Given the description of an element on the screen output the (x, y) to click on. 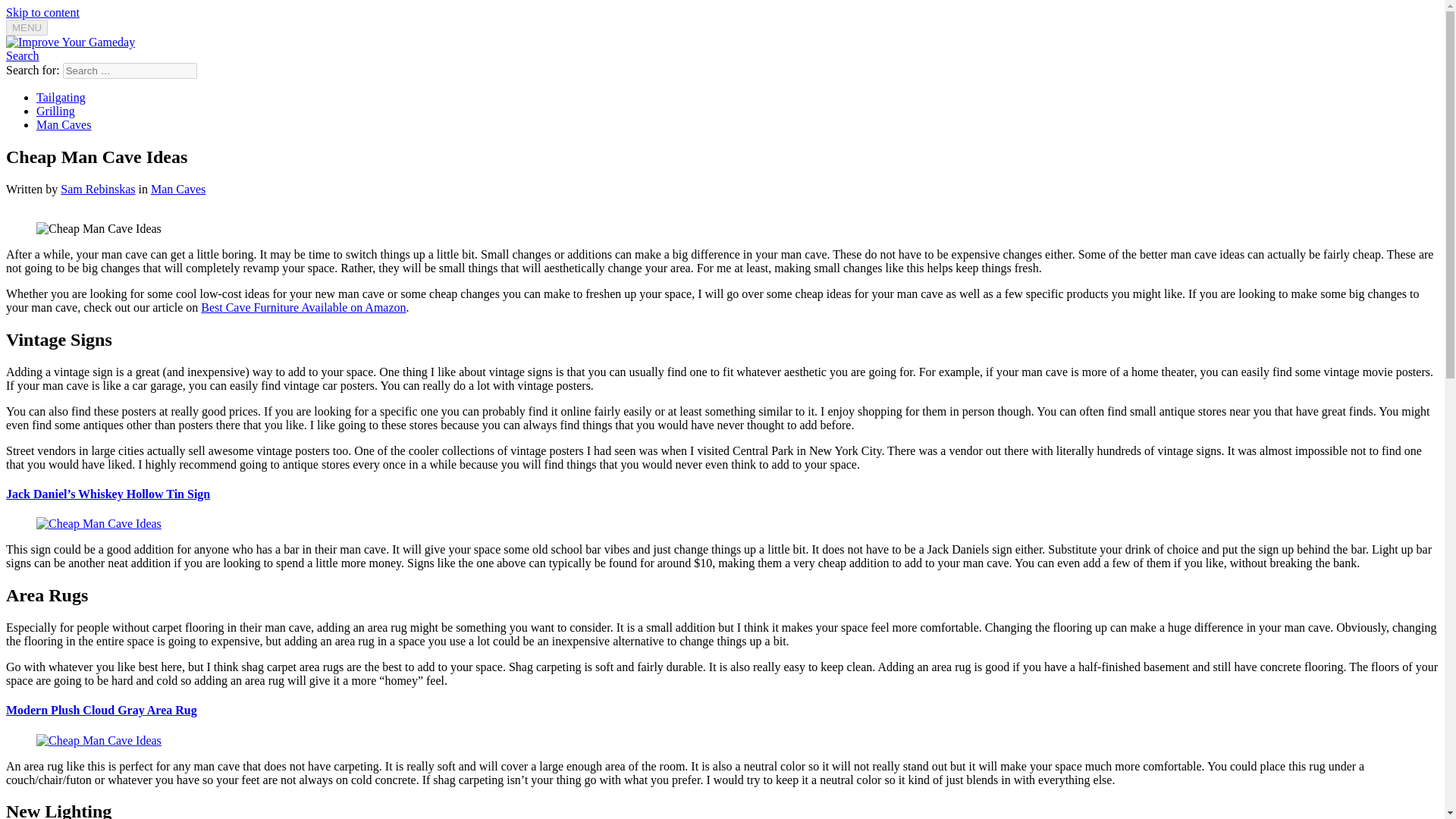
Man Caves (178, 188)
Skip to content (42, 11)
Tailgating (60, 97)
MENU (26, 27)
Man Caves (63, 124)
Grilling (55, 110)
Best Cave Furniture Available on Amazon (303, 307)
Search (22, 55)
Modern Plush Cloud Gray Area Rug (100, 709)
Sam Rebinskas (98, 188)
